Given the description of an element on the screen output the (x, y) to click on. 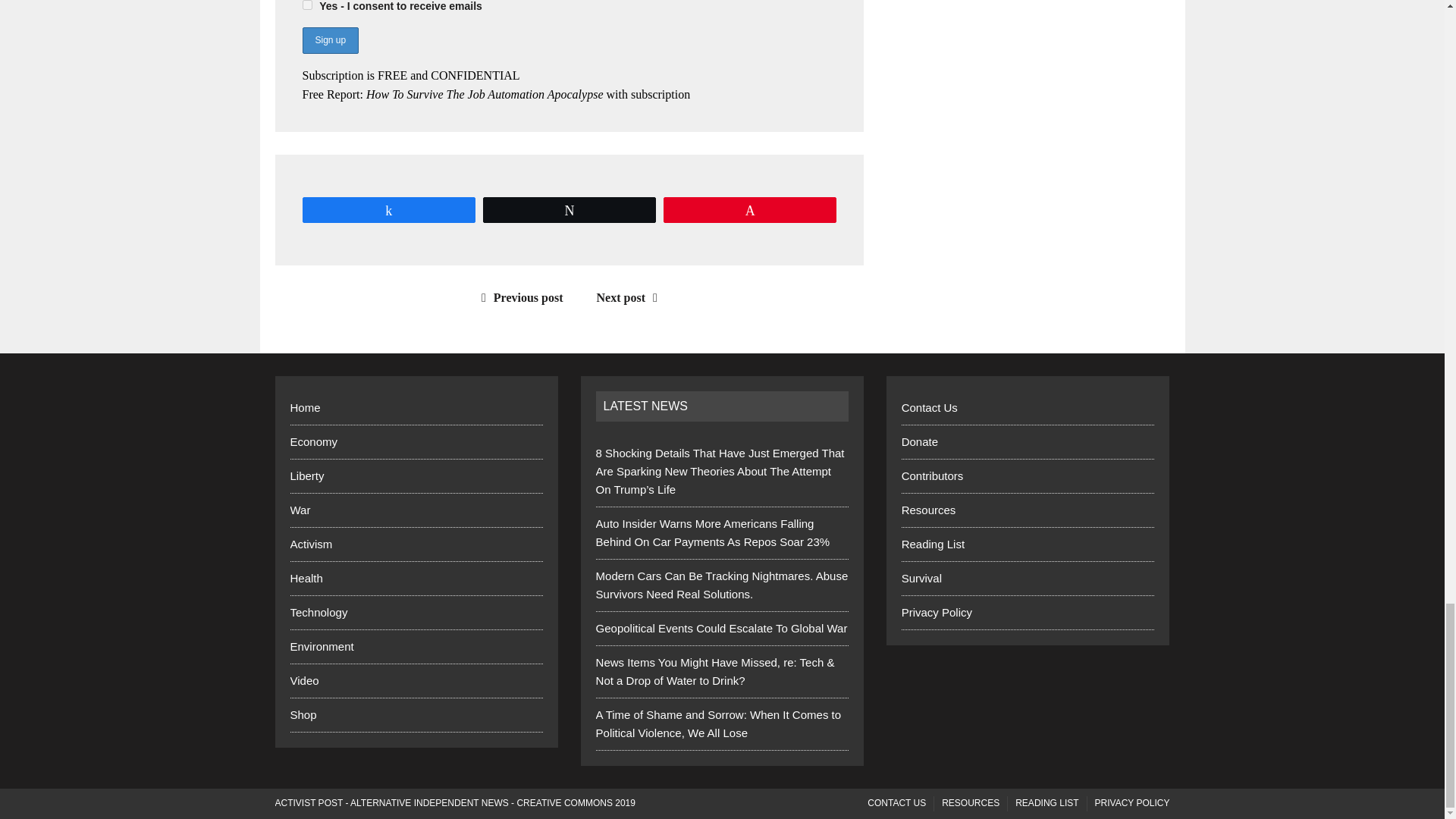
Sign up (329, 40)
1 (306, 4)
